Given the description of an element on the screen output the (x, y) to click on. 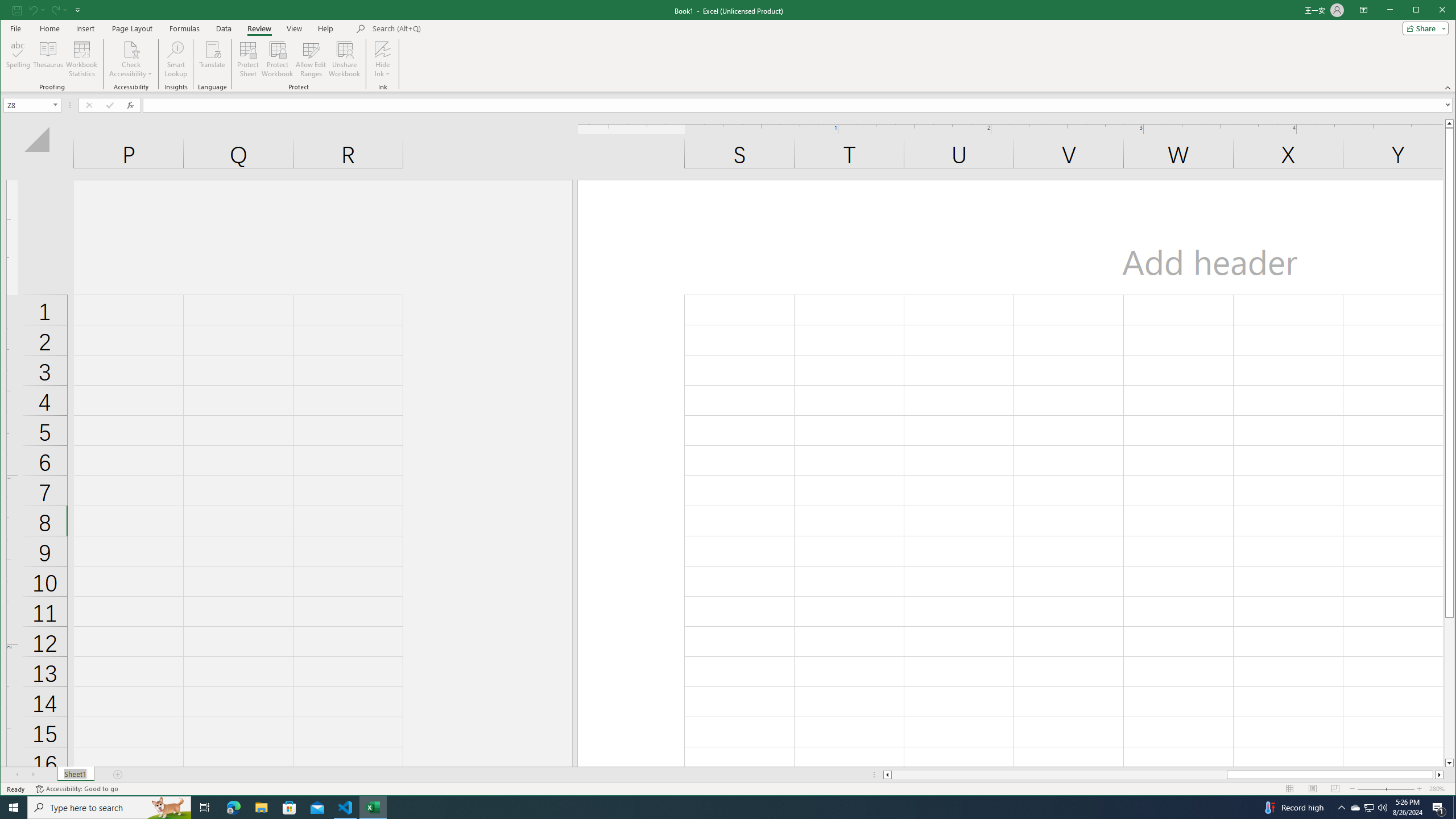
Hide Ink (382, 48)
Formula Bar (799, 104)
Sheet Tab (75, 774)
Page left (1059, 774)
Smart Lookup (1355, 807)
Workbook Statistics (176, 59)
